Given the description of an element on the screen output the (x, y) to click on. 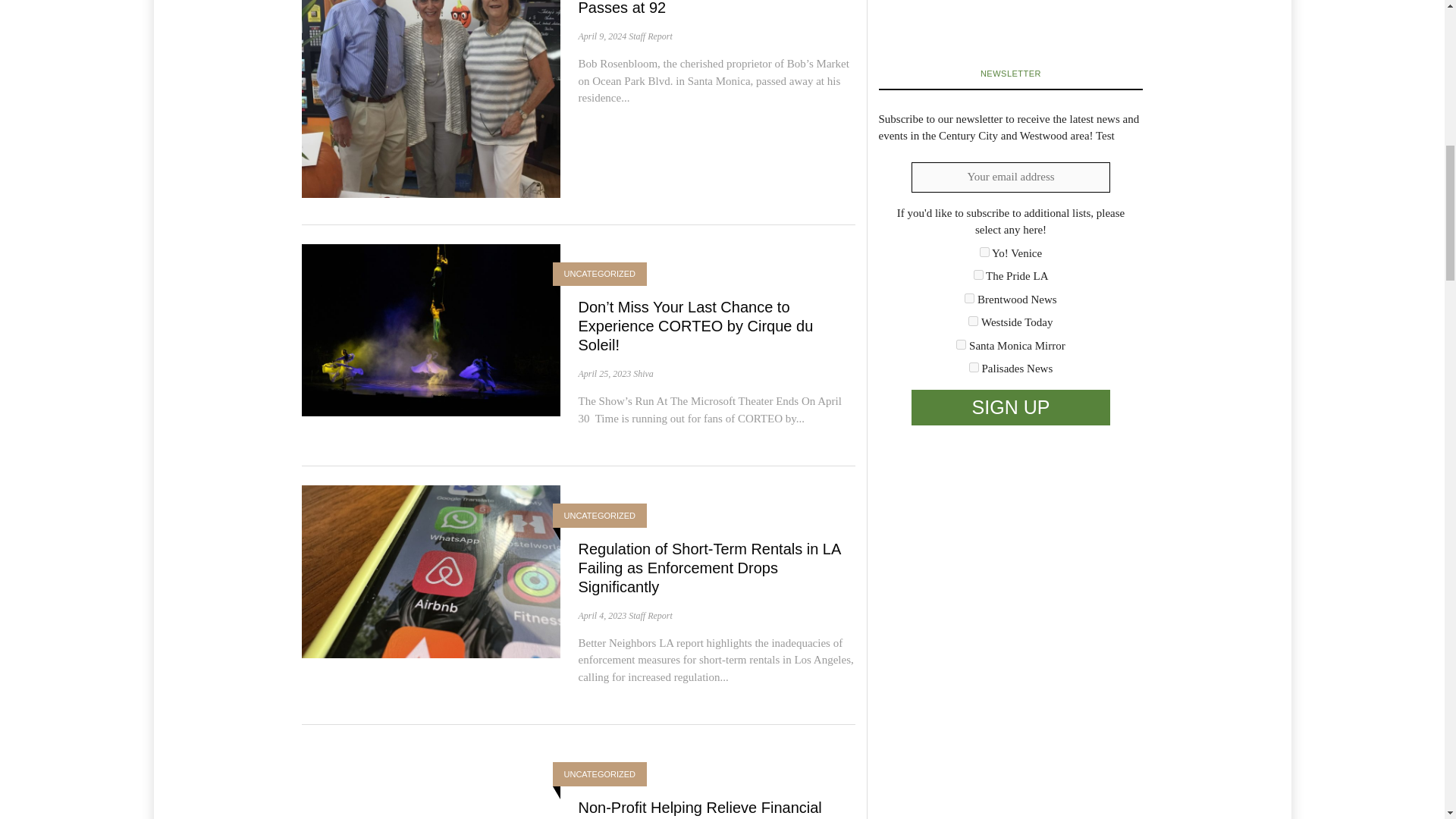
Posts by Staff Report (650, 615)
Posts by Shiva (643, 373)
Posts by Staff Report (650, 36)
